Given the description of an element on the screen output the (x, y) to click on. 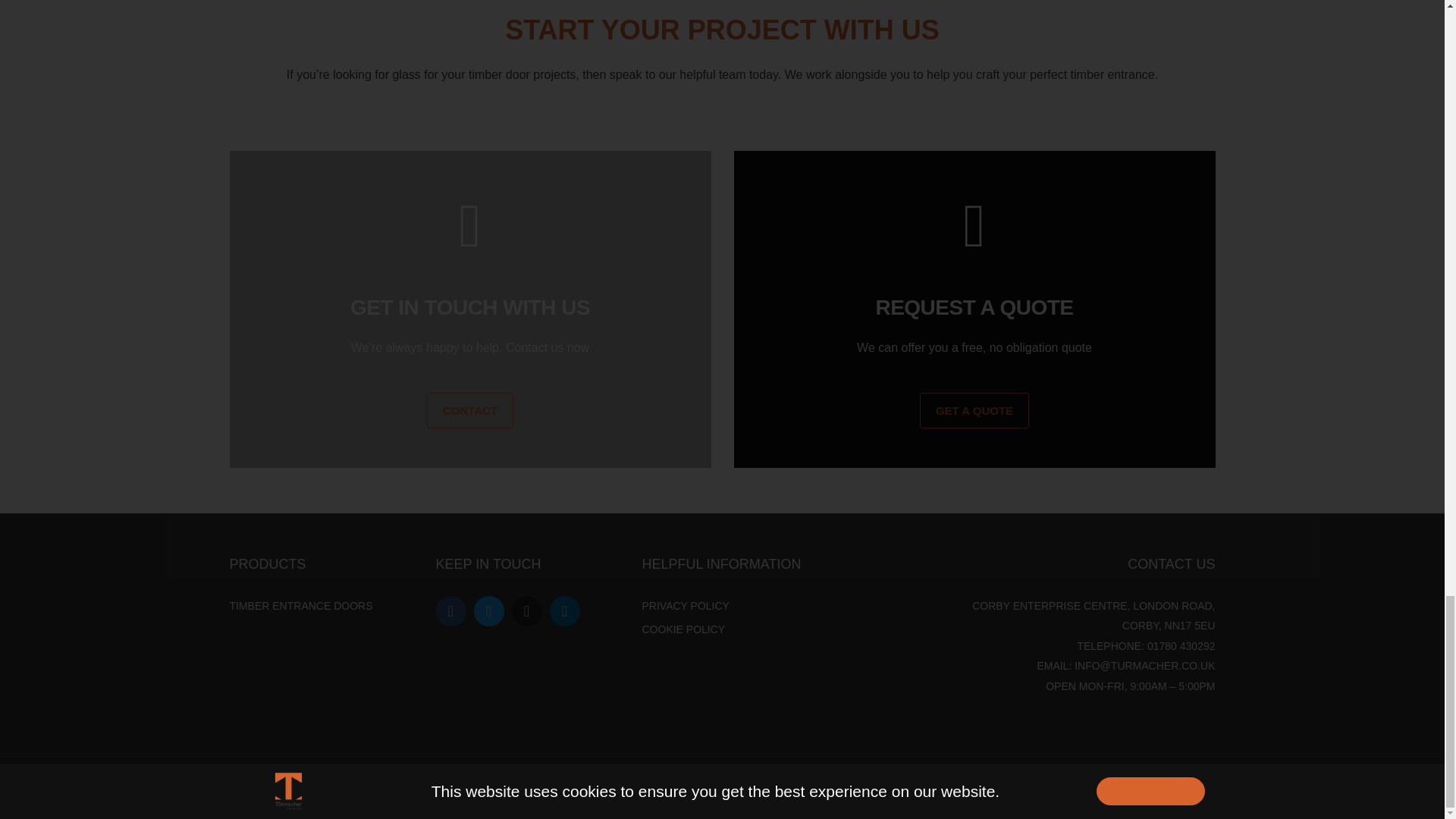
TIMBER ENTRANCE DOORS (300, 605)
PRIVACY POLICY (685, 605)
GET A QUOTE (974, 410)
COOKIE POLICY (683, 629)
CONTACT (469, 410)
